Given the description of an element on the screen output the (x, y) to click on. 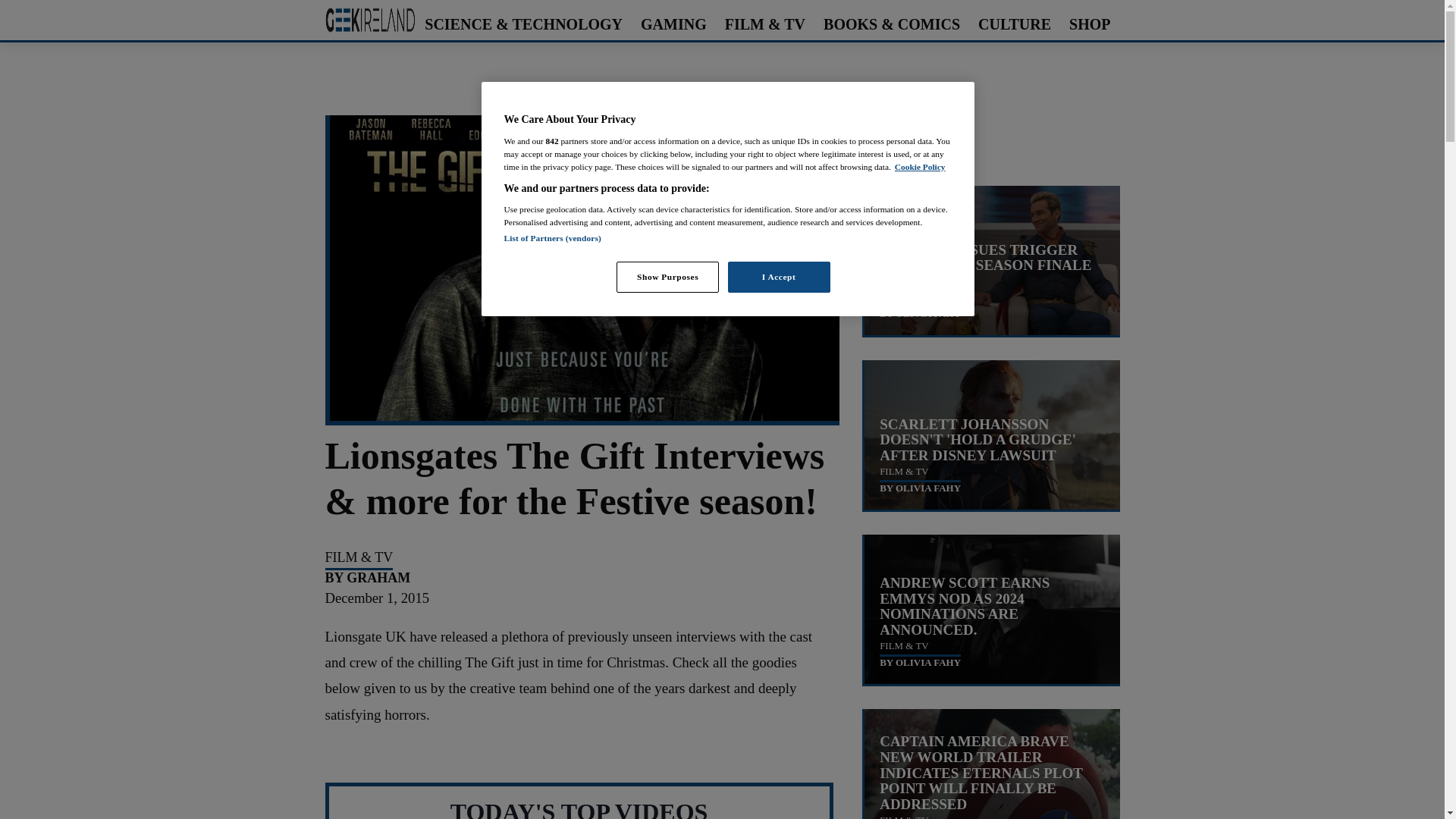
THE BOYS ISSUES TRIGGER WARNING AS SEASON FINALE DROPS (984, 265)
BY GRAHAM (367, 578)
SHOP (1089, 23)
GAMING (673, 23)
CULTURE (1014, 23)
